Given the description of an element on the screen output the (x, y) to click on. 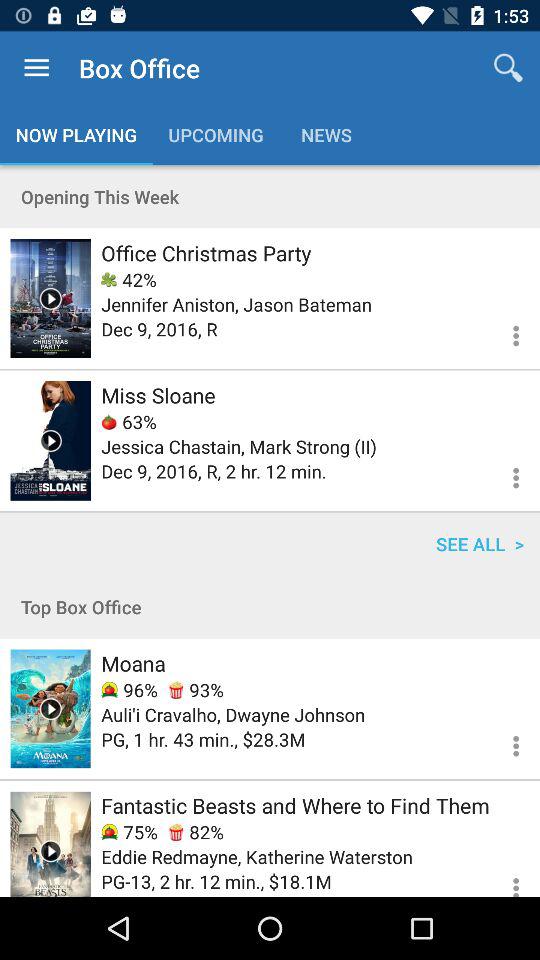
open the item next to the 93% item (129, 689)
